Given the description of an element on the screen output the (x, y) to click on. 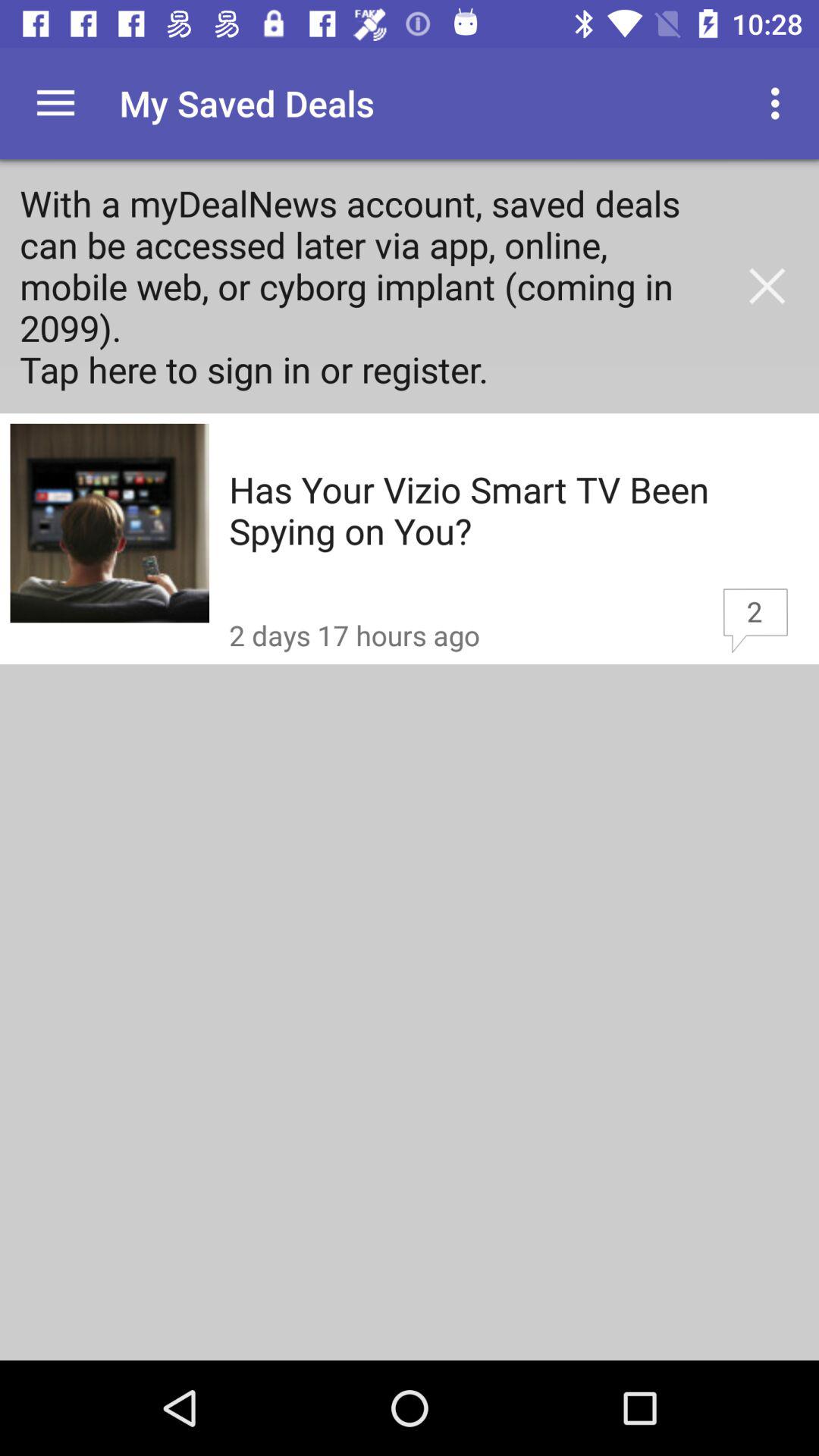
go to menu (55, 103)
